Given the description of an element on the screen output the (x, y) to click on. 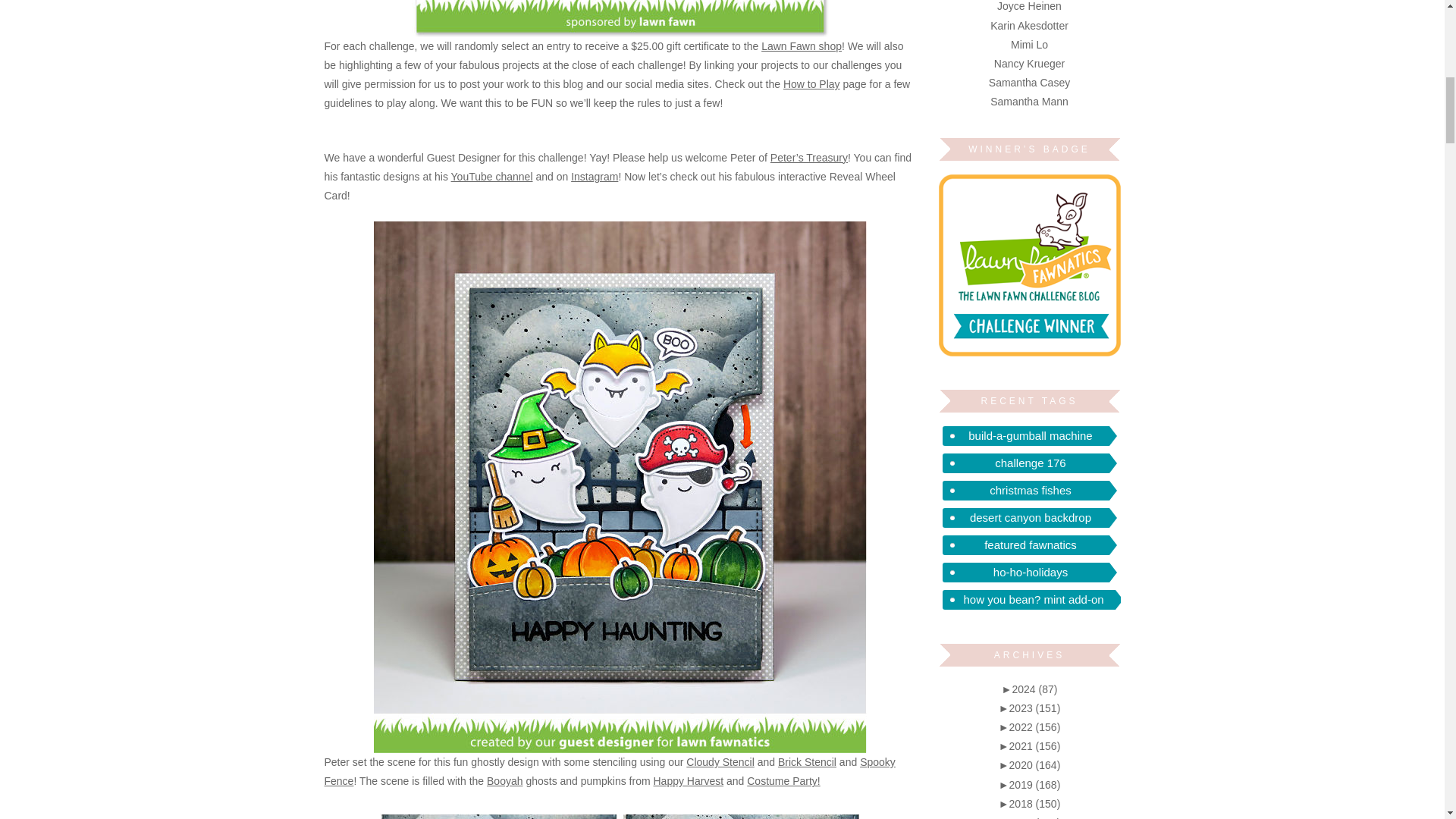
Spooky Fence (609, 771)
Lawn Fawn shop (801, 46)
How to Play (811, 83)
Costume Party! (782, 780)
Instagram (593, 176)
Cloudy Stencil (719, 761)
click to expand (1029, 689)
YouTube channel (491, 176)
Brick Stencil (806, 761)
Happy Harvest (688, 780)
Booyah (504, 780)
